Given the description of an element on the screen output the (x, y) to click on. 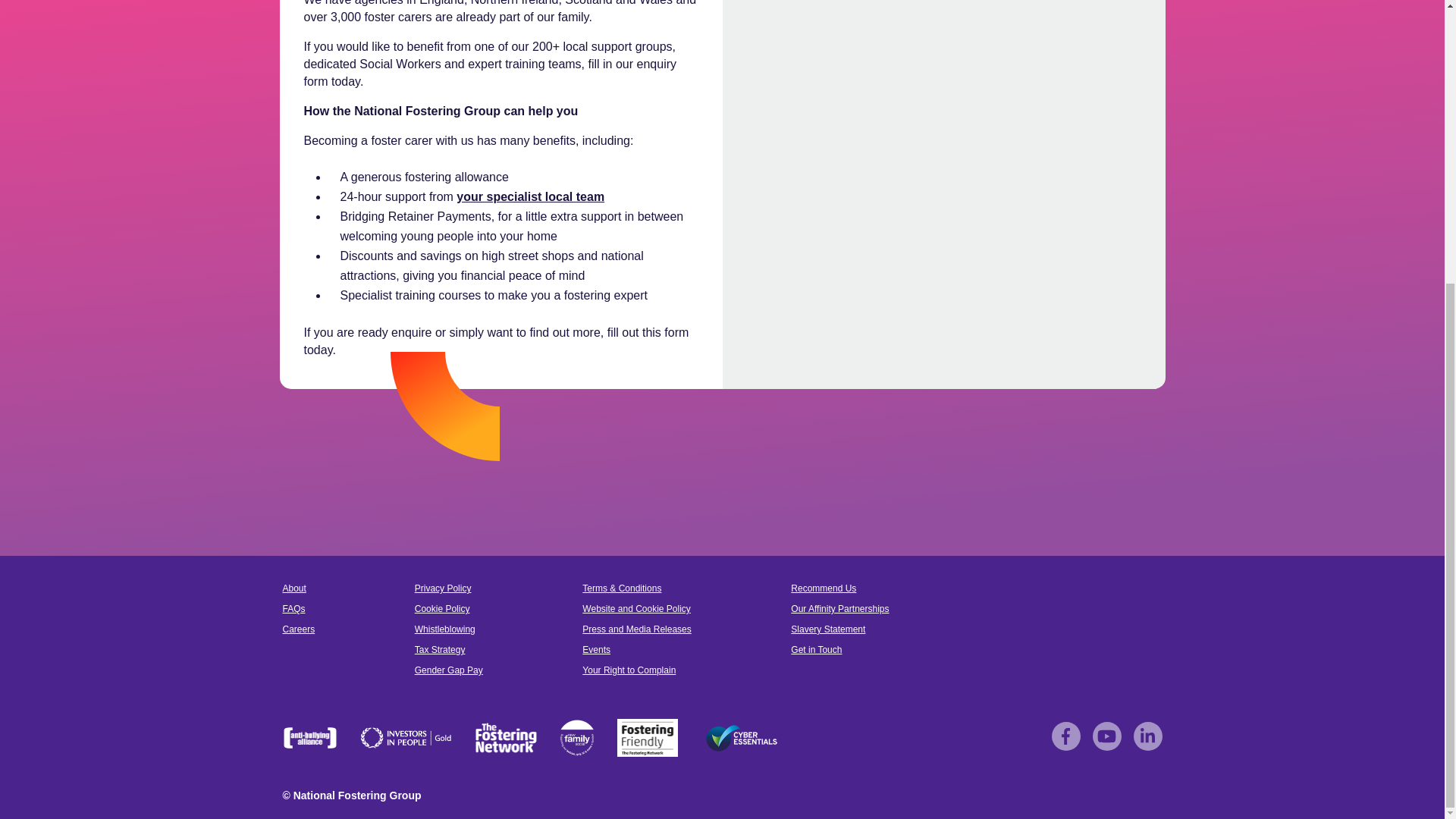
About (293, 588)
your specialist local team (530, 196)
FAQs (293, 608)
